Given the description of an element on the screen output the (x, y) to click on. 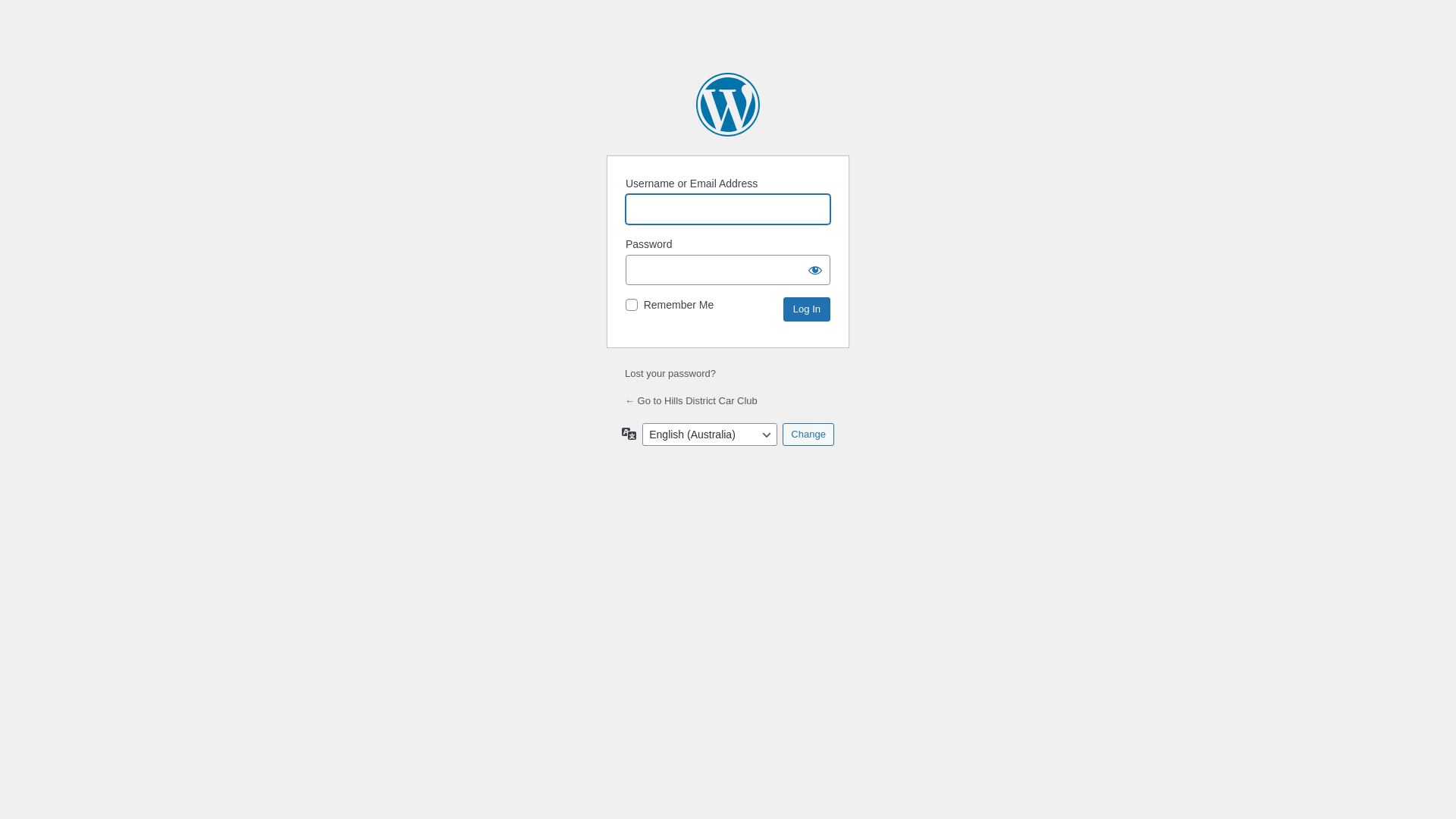
Change Element type: text (808, 434)
Powered by WordPress Element type: text (727, 104)
Lost your password? Element type: text (669, 373)
Log In Element type: text (806, 309)
